Given the description of an element on the screen output the (x, y) to click on. 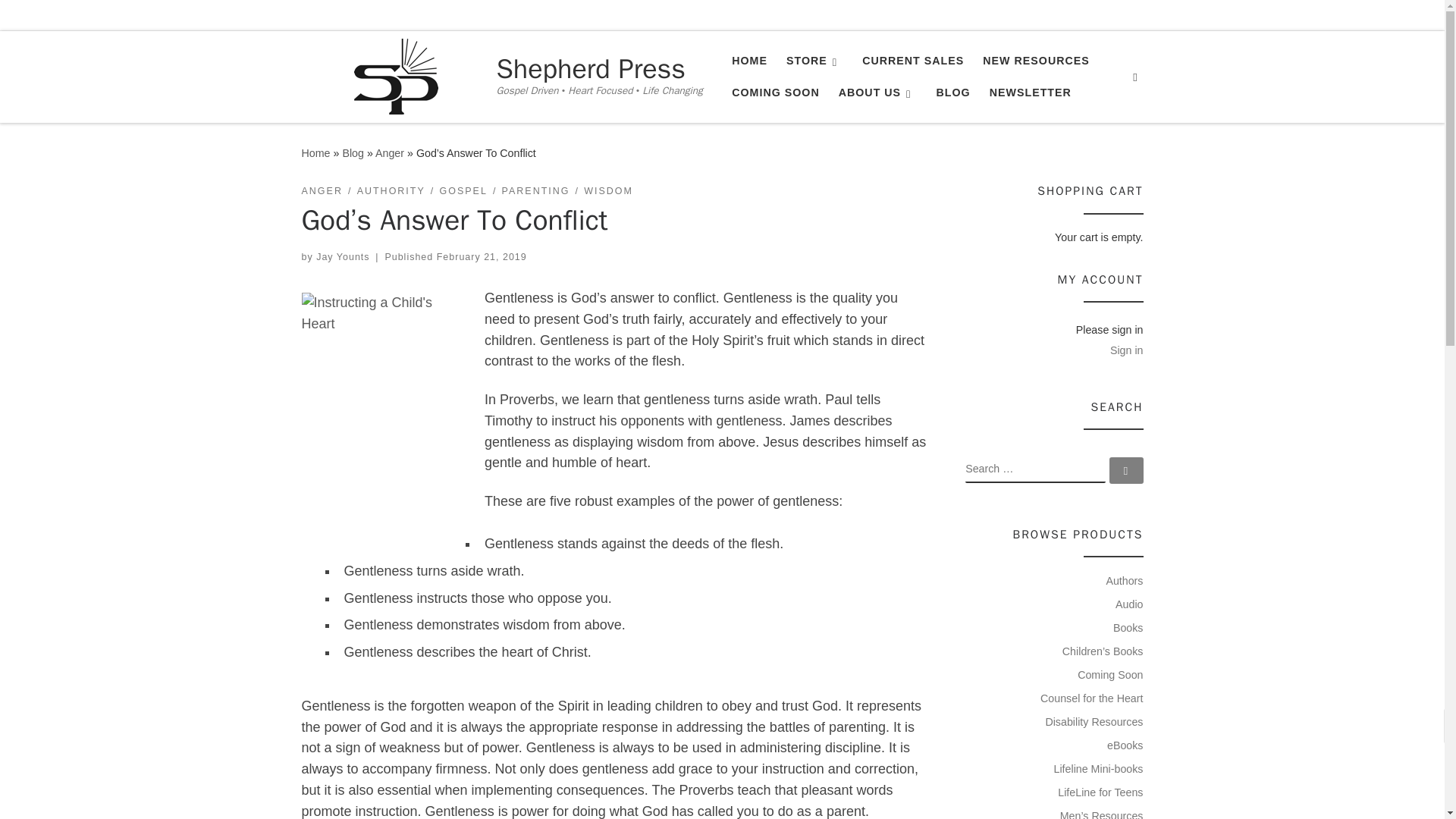
COMING SOON (775, 92)
STORE (814, 60)
CURRENT SALES (913, 60)
View all posts in Authority (390, 191)
View all posts in Parenting (536, 191)
BLOG (953, 92)
Anger (389, 152)
NEWSLETTER (1029, 92)
HOME (748, 60)
Blog (353, 152)
